Given the description of an element on the screen output the (x, y) to click on. 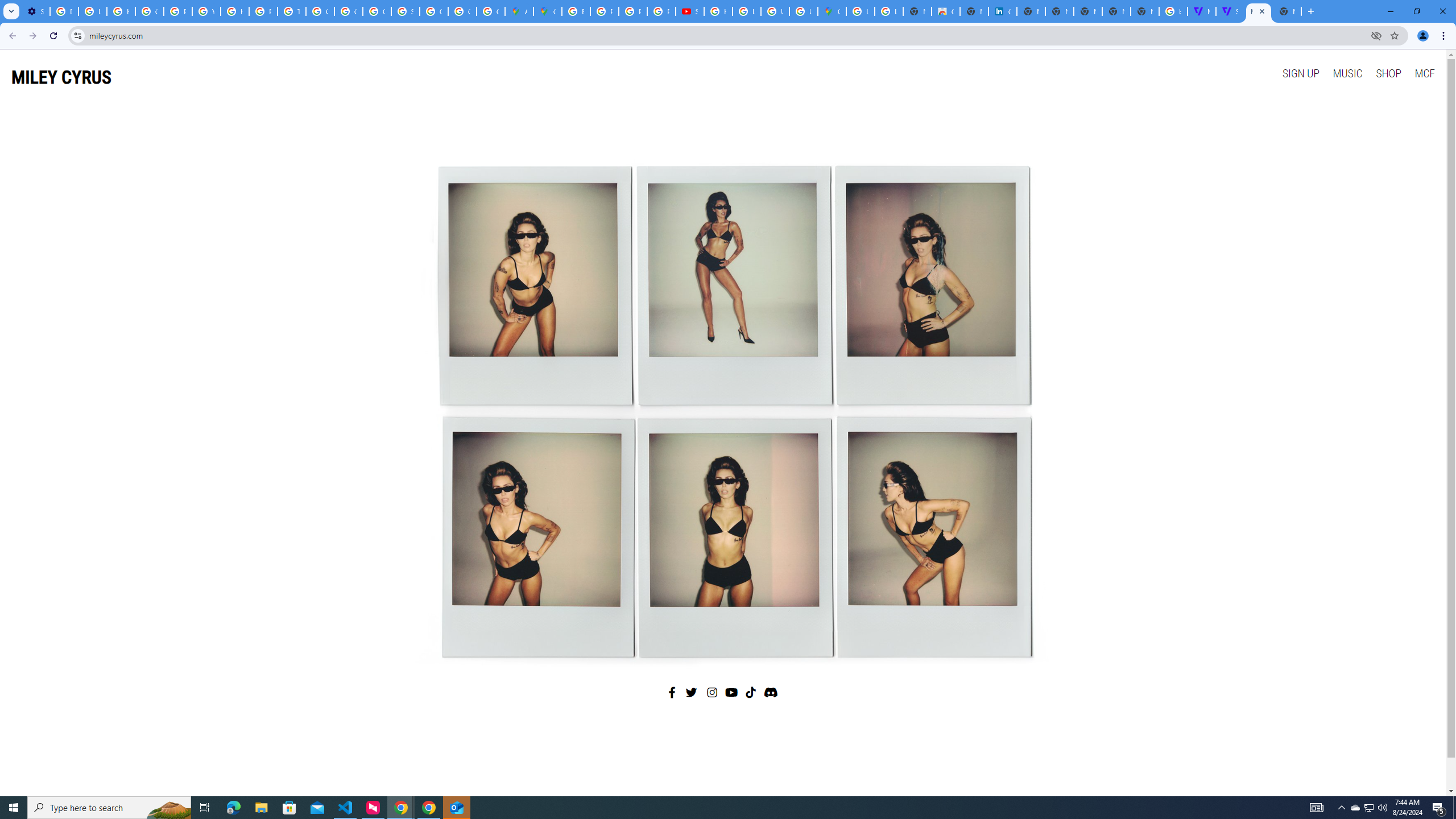
Streaming - The Verge (1230, 11)
Privacy Help Center - Policies Help (263, 11)
Blogger Policies and Guidelines - Transparency Center (575, 11)
Delete photos & videos - Computer - Google Photos Help (63, 11)
